Given the description of an element on the screen output the (x, y) to click on. 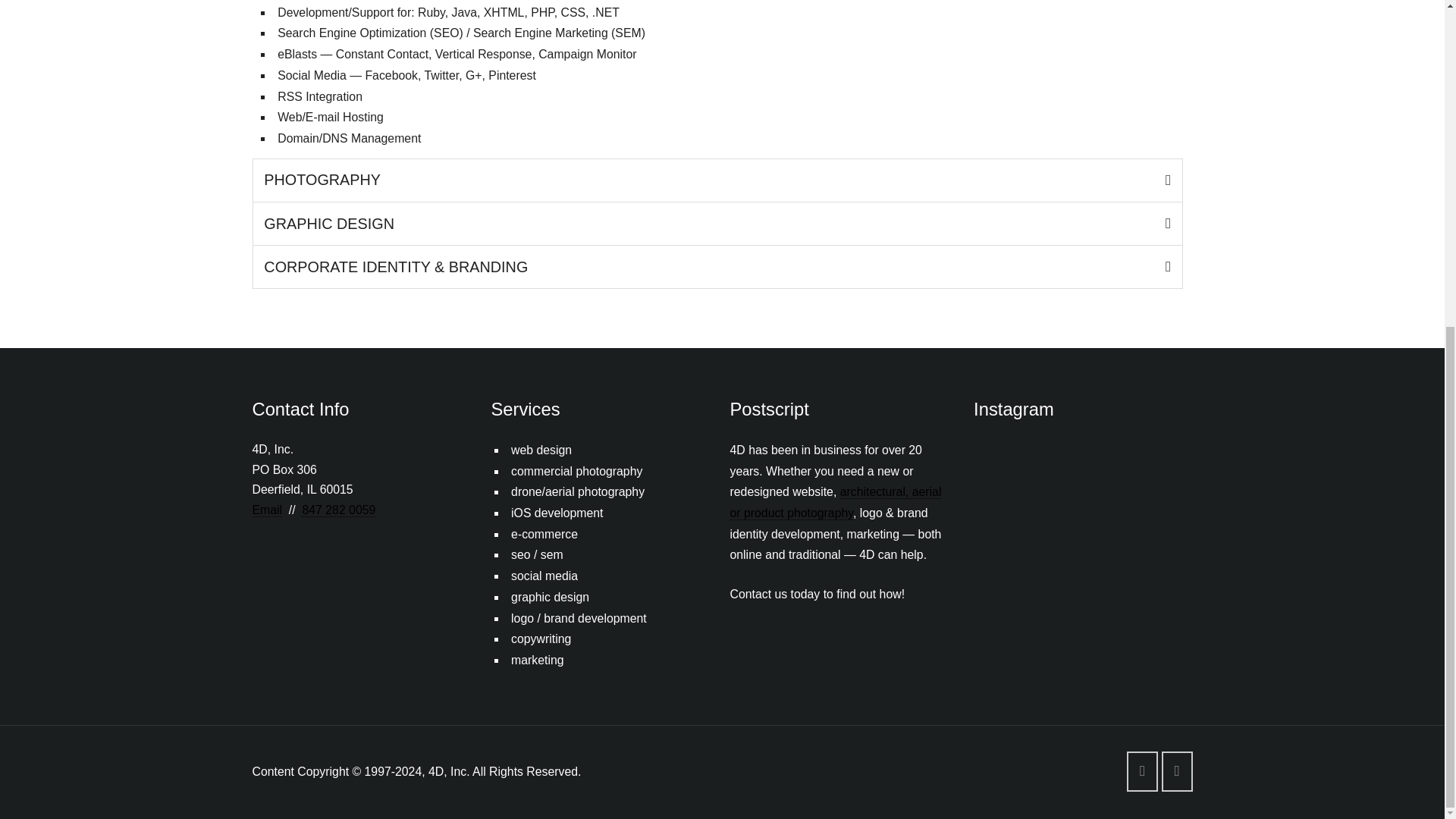
847 282 0059 (338, 509)
Email (266, 509)
architectural, aerial or product photography (834, 502)
